Given the description of an element on the screen output the (x, y) to click on. 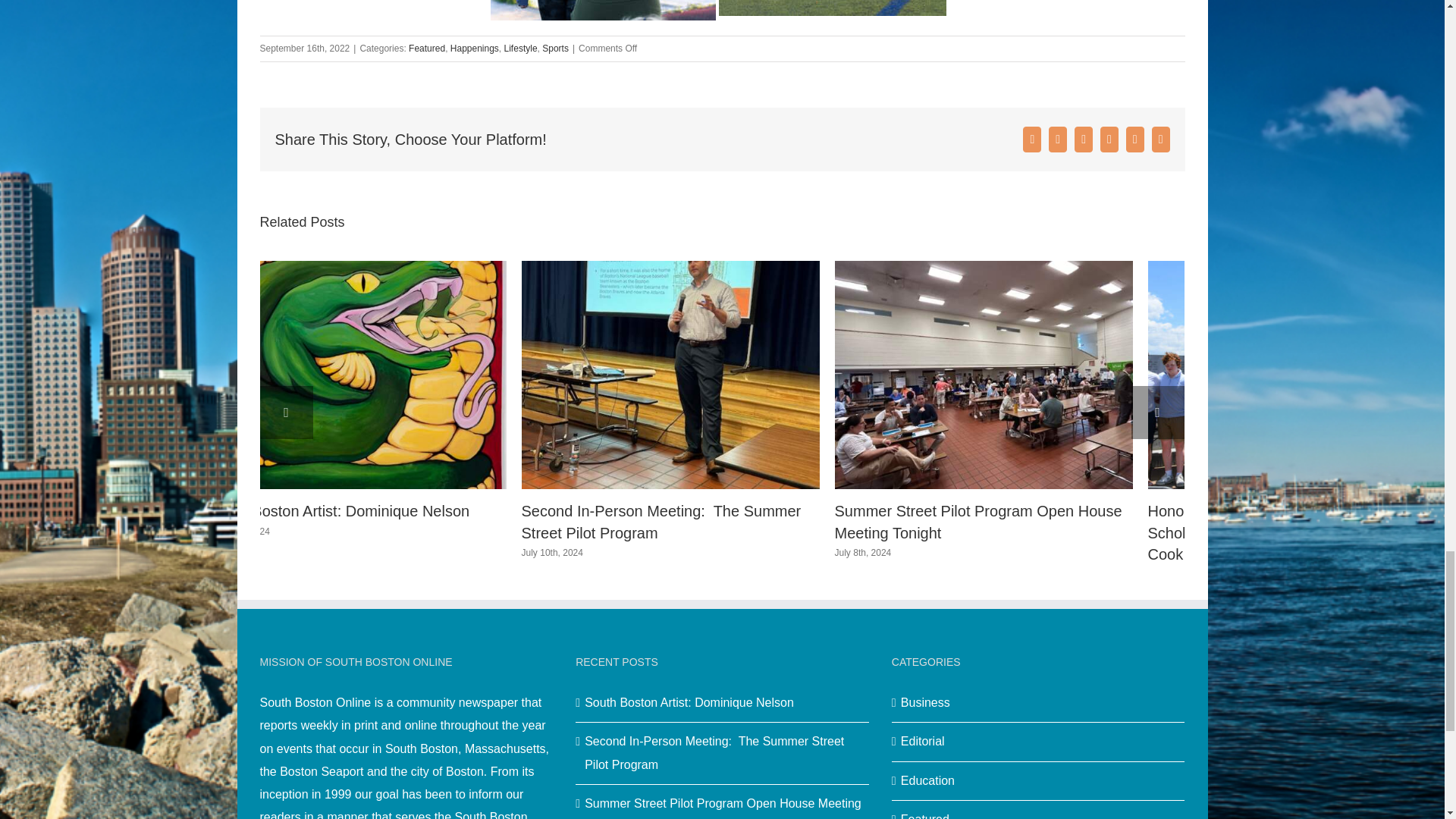
Summer Street Pilot Program Open House Meeting Tonight (978, 521)
Happenings (474, 48)
South Boston Artist: Dominique Nelson (339, 510)
Featured (427, 48)
